Given the description of an element on the screen output the (x, y) to click on. 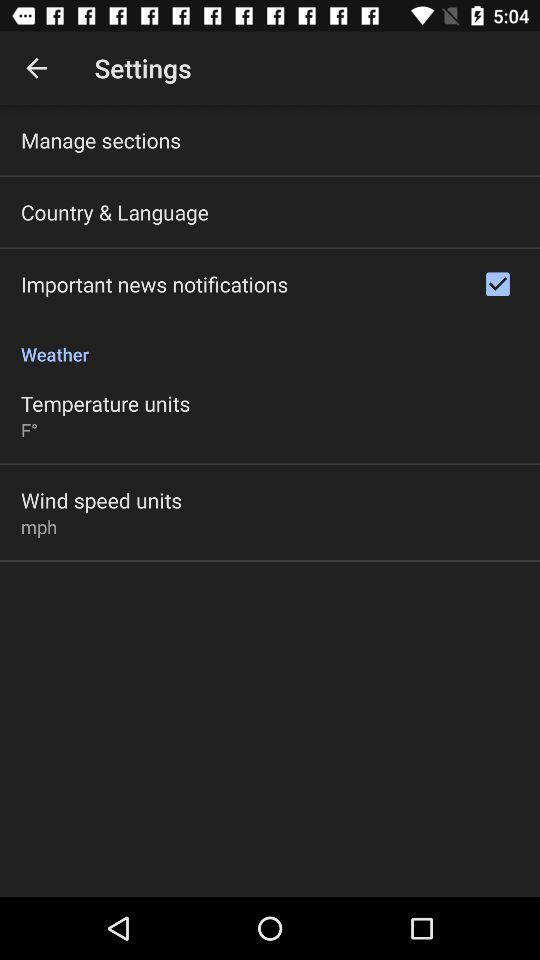
swipe until the manage sections icon (101, 139)
